Given the description of an element on the screen output the (x, y) to click on. 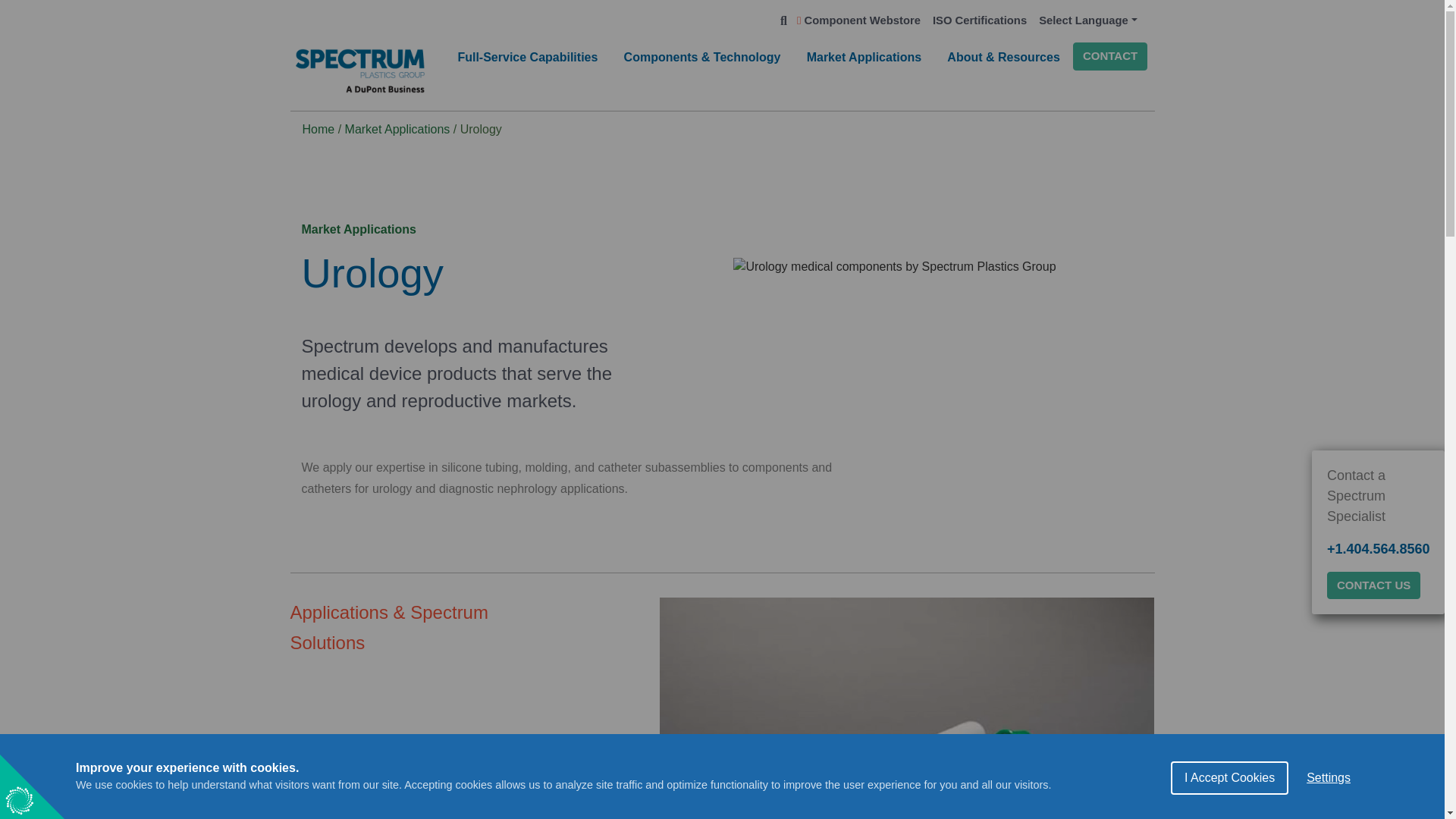
Settings (1328, 812)
ISO Certifications (979, 20)
Select Language (1087, 20)
Component Webstore (858, 20)
